Given the description of an element on the screen output the (x, y) to click on. 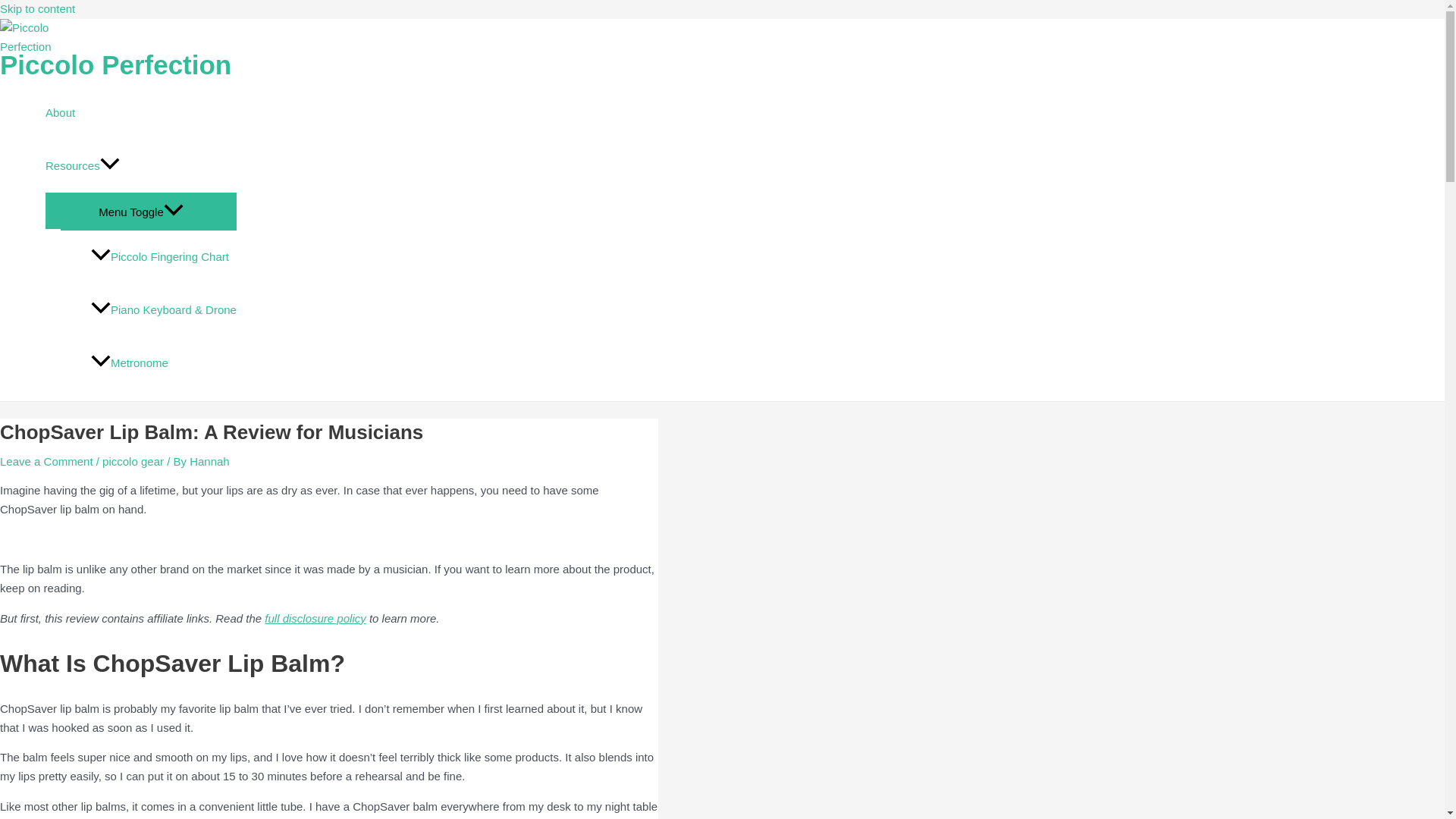
full disclosure policy (314, 617)
Piccolo Fingering Chart (162, 256)
View all posts by Hannah (209, 461)
Leave a Comment (46, 461)
About (140, 112)
Metronome (162, 362)
Skip to content (37, 8)
Piccolo Perfection (115, 64)
Menu Toggle (140, 210)
Hannah (209, 461)
piccolo gear (132, 461)
Resources (140, 165)
Skip to content (37, 8)
